Given the description of an element on the screen output the (x, y) to click on. 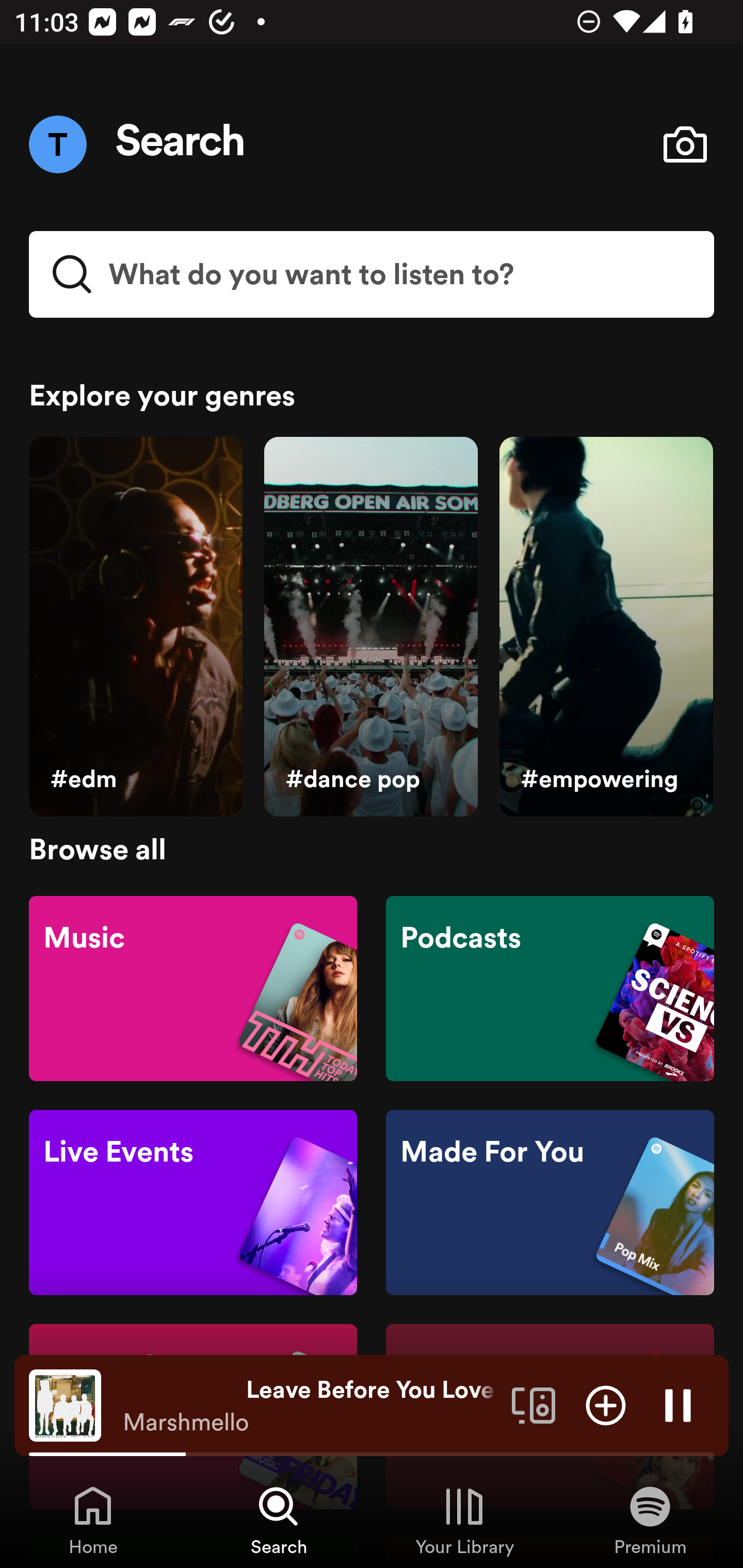
Menu (57, 144)
Open camera (685, 145)
Search (180, 144)
#edm (135, 626)
#dance pop (370, 626)
#empowering (606, 626)
Music (192, 987)
Podcasts (549, 987)
Live Events (192, 1202)
Made For You (549, 1202)
The cover art of the currently playing track (64, 1404)
Connect to a device. Opens the devices menu (533, 1404)
Add item (605, 1404)
Pause (677, 1404)
Home, Tab 1 of 4 Home Home (92, 1519)
Search, Tab 2 of 4 Search Search (278, 1519)
Your Library, Tab 3 of 4 Your Library Your Library (464, 1519)
Premium, Tab 4 of 4 Premium Premium (650, 1519)
